Given the description of an element on the screen output the (x, y) to click on. 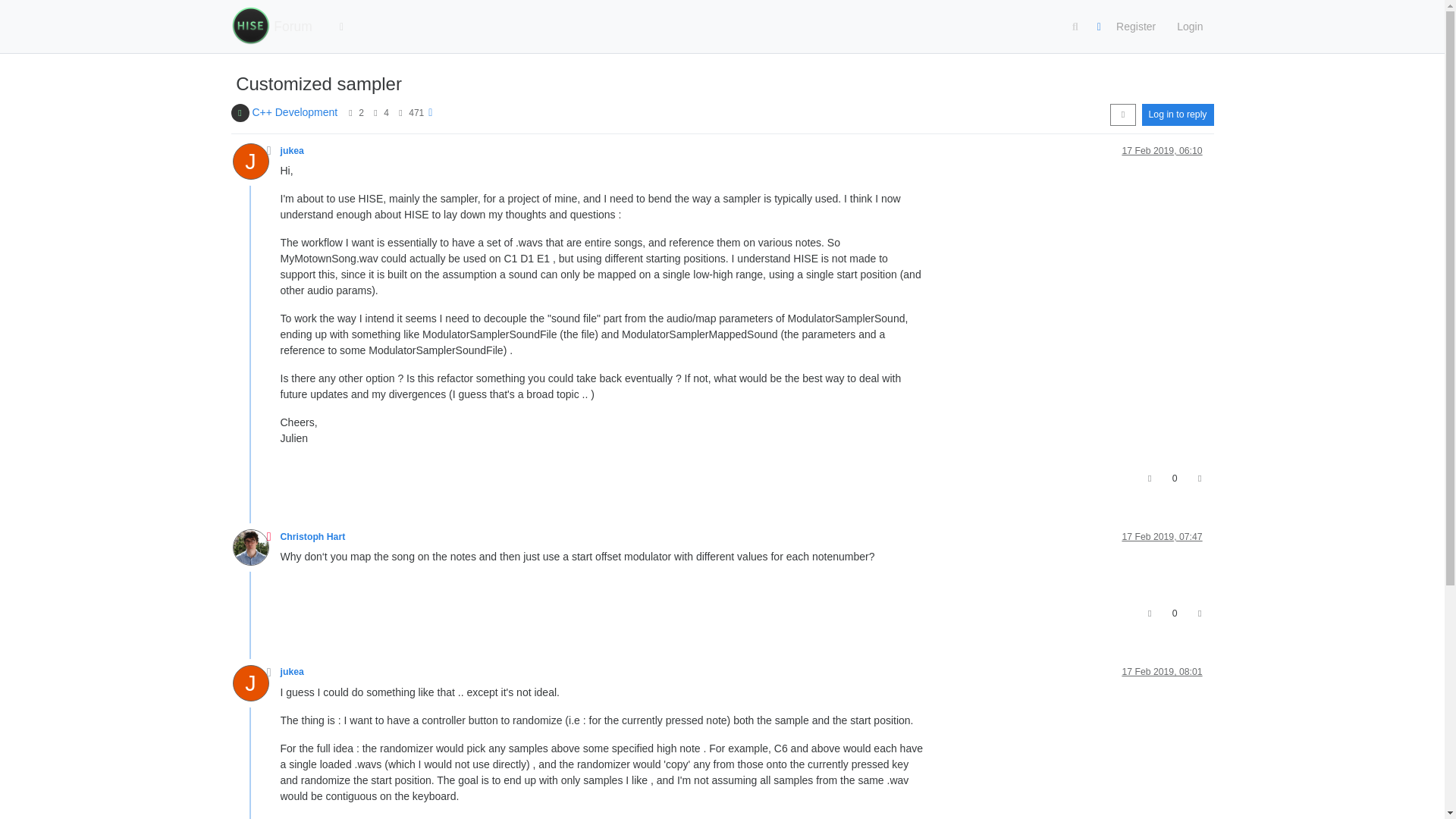
17 Feb 2019, 06:10 (1161, 150)
Christoph Hart (313, 536)
Views (400, 112)
17 Feb 2019, 06:10 (1161, 150)
Posts (375, 112)
Search (1074, 27)
Log in to reply (1177, 114)
Login (1189, 26)
Forum (293, 26)
jukea (292, 150)
Categories (341, 26)
Register (1135, 26)
Posters (350, 112)
J (255, 164)
jukea (249, 161)
